Given the description of an element on the screen output the (x, y) to click on. 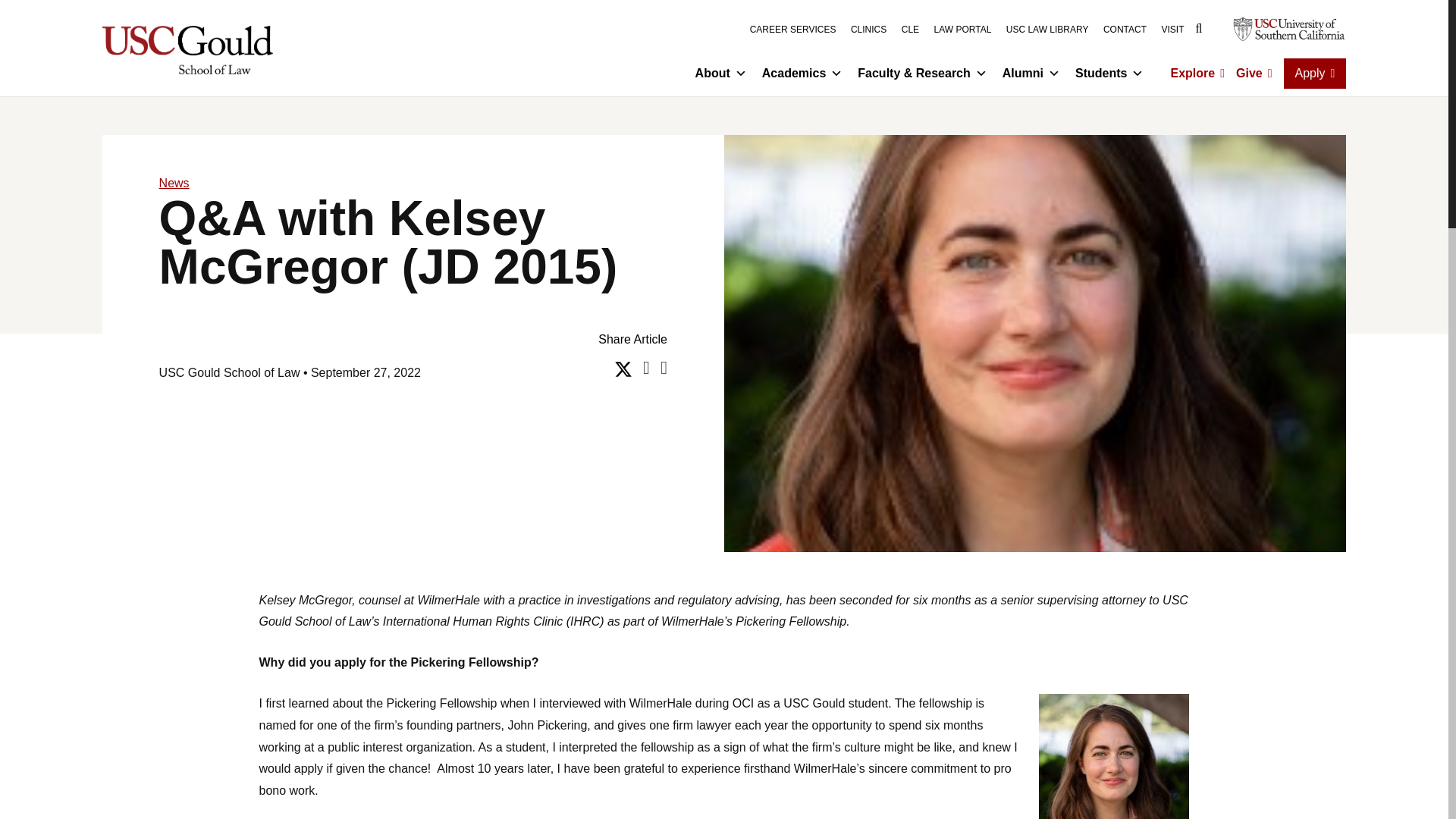
VISIT (1171, 29)
Law Portal (962, 29)
CLE (909, 29)
USC Law Library (1047, 29)
CLE (909, 29)
Visit (1171, 29)
USC LAW LIBRARY (1047, 29)
About (720, 73)
LAW PORTAL (962, 29)
Academics (802, 73)
CLINICS (868, 29)
Contact (1125, 29)
Clinics (868, 29)
CONTACT (1125, 29)
Career Services (792, 29)
